Given the description of an element on the screen output the (x, y) to click on. 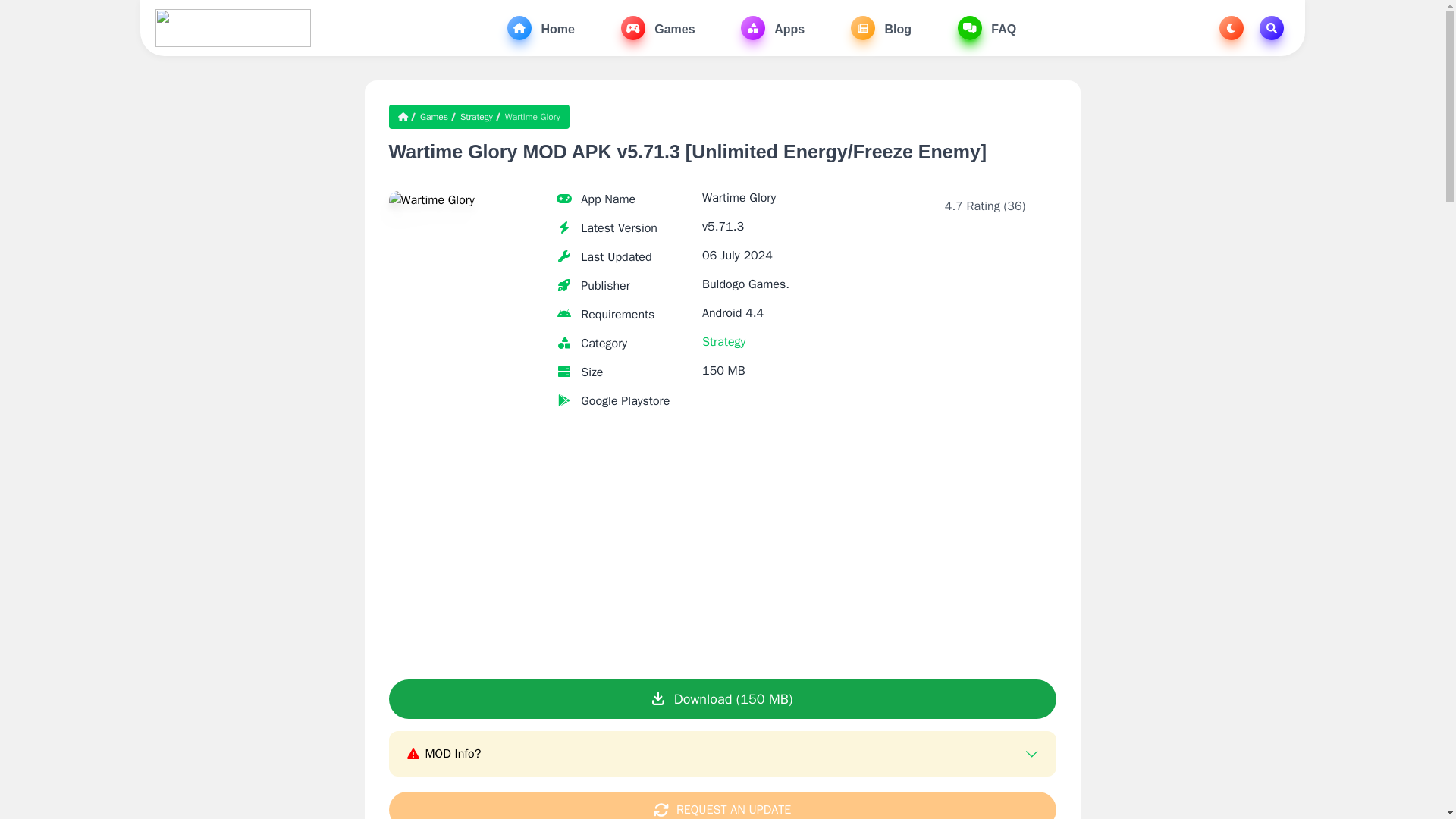
Strategy (476, 116)
REQUEST AN UPDATE (721, 805)
Toggle Dark Mode (1231, 27)
Strategy (723, 340)
Apps (773, 27)
Toggle Search (1270, 27)
Blog (880, 27)
Games (433, 116)
MOD Info? (721, 753)
FAQ (987, 27)
Games (658, 27)
Home (540, 27)
